Given the description of an element on the screen output the (x, y) to click on. 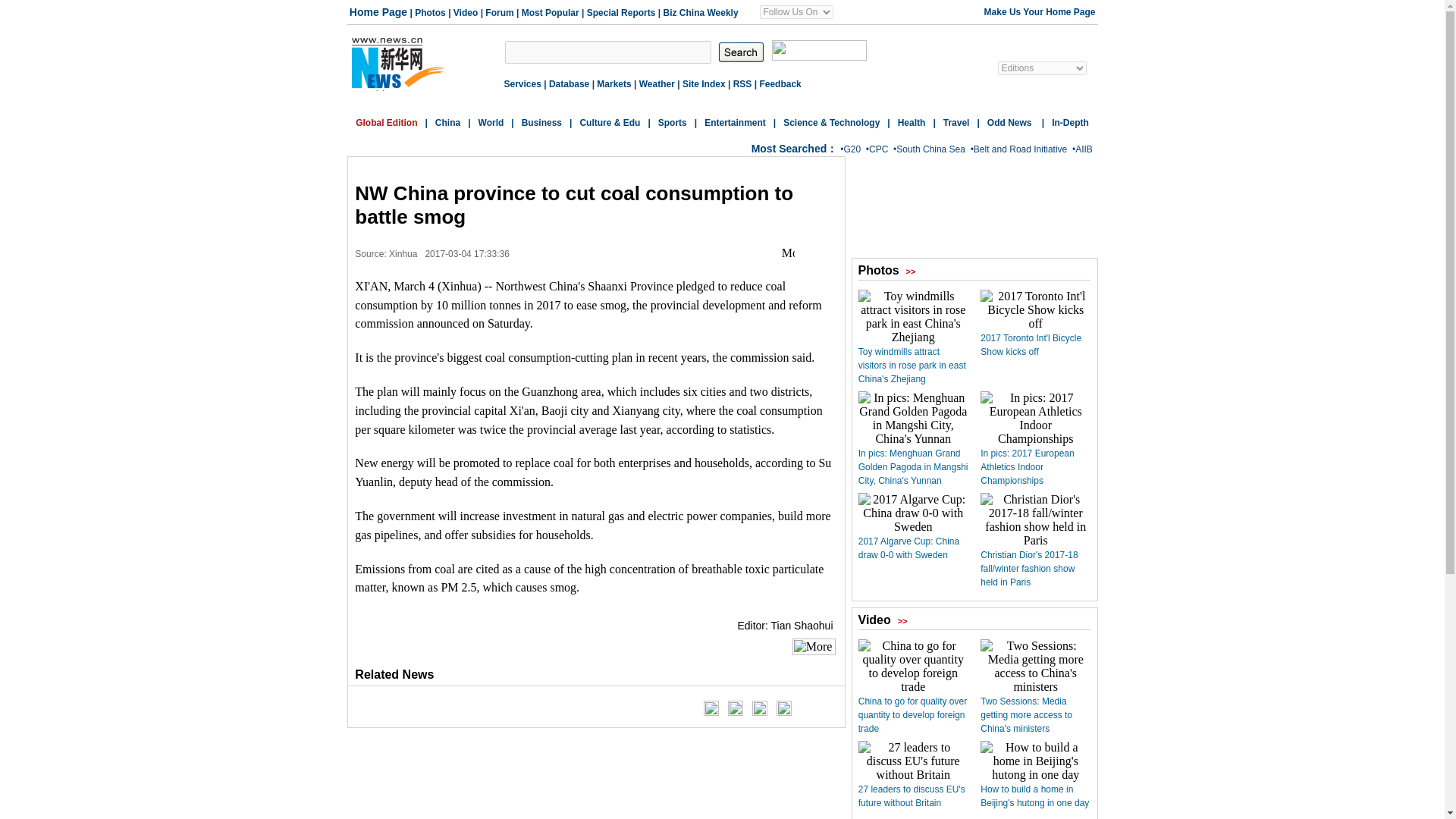
Global Edition (385, 122)
Markets (613, 83)
Travel (956, 122)
Site Index (703, 83)
Video (464, 12)
More (787, 252)
Forum (498, 12)
Entertainment (734, 122)
Biz China Weekly (700, 12)
Database (568, 83)
